Given the description of an element on the screen output the (x, y) to click on. 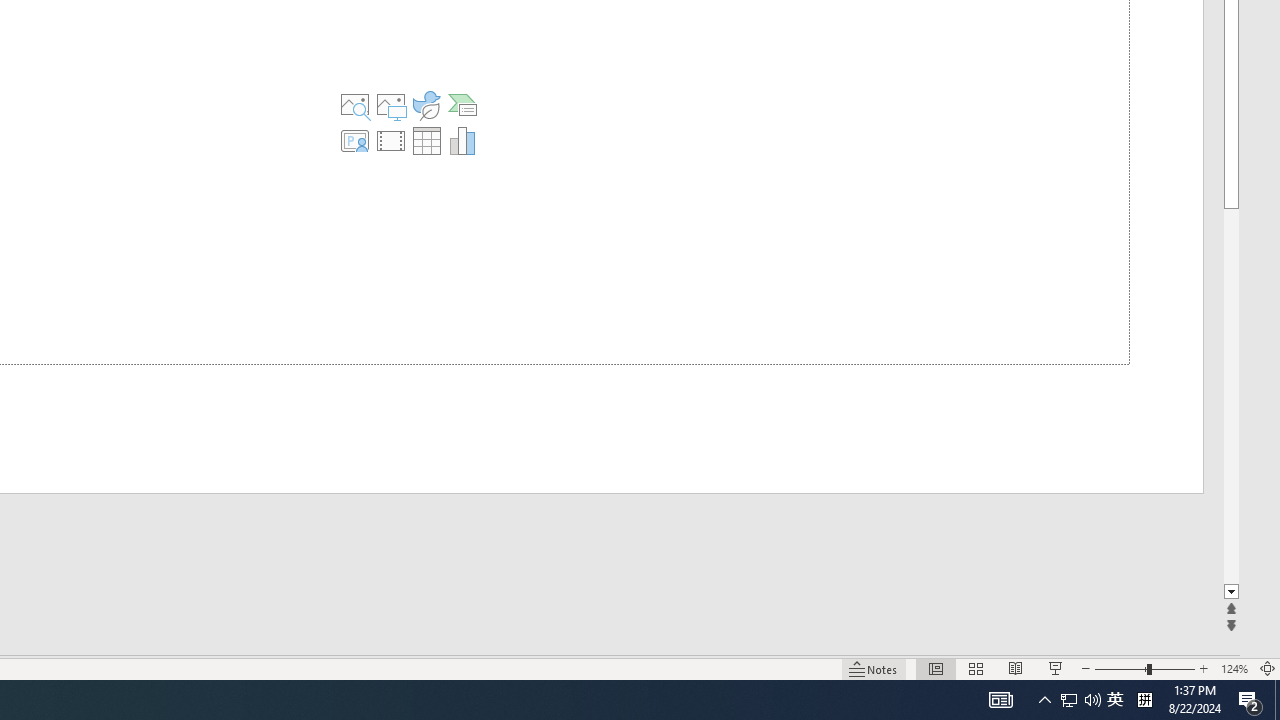
Insert Table (426, 140)
